Given the description of an element on the screen output the (x, y) to click on. 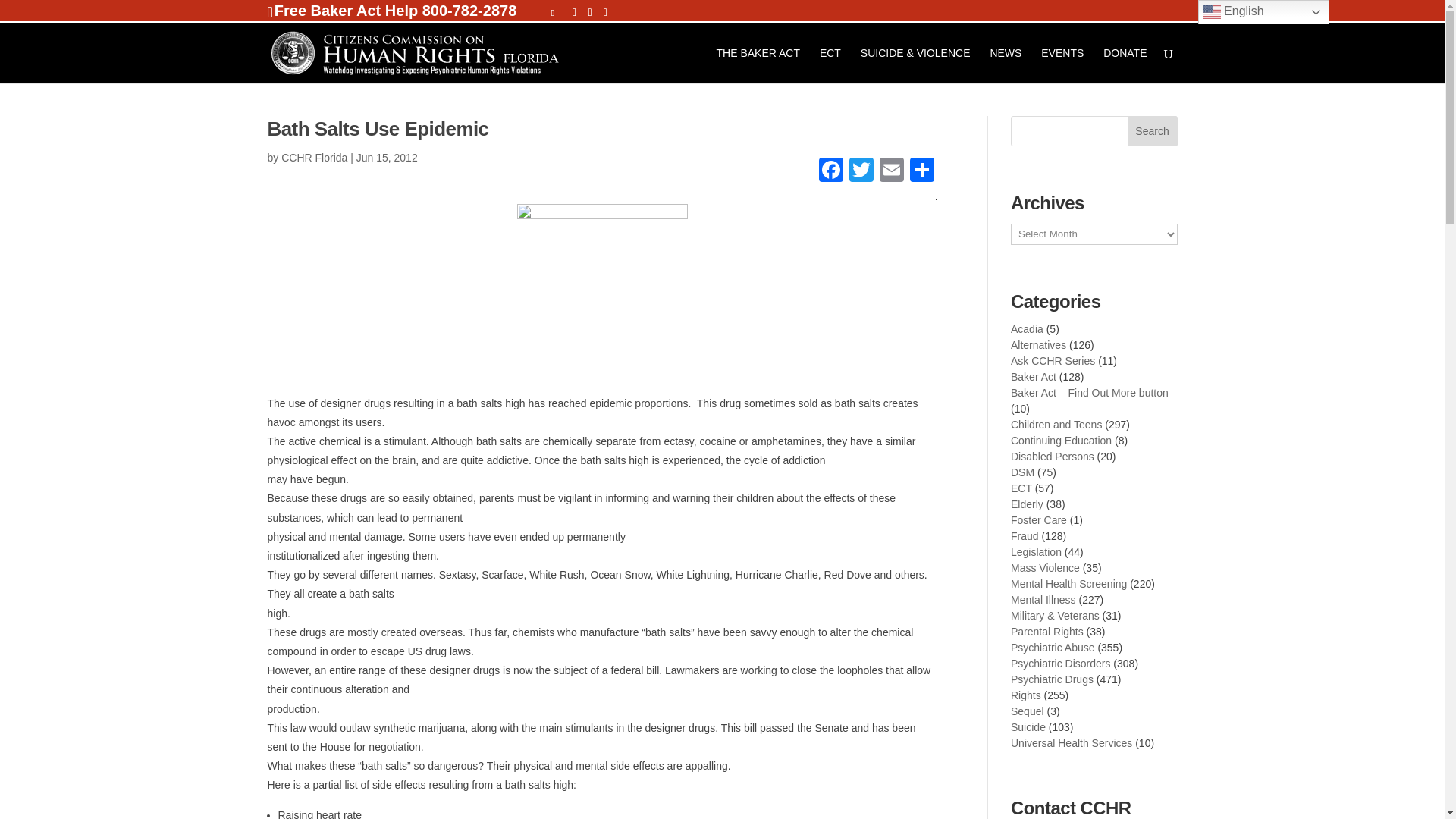
Search (1151, 131)
EVENTS (1062, 65)
Acadia (1026, 328)
Search (1151, 131)
Baker Act (1033, 377)
Email (891, 171)
Facebook (830, 171)
Twitter (860, 171)
CCHR Florida (314, 157)
no drugs (601, 288)
